Given the description of an element on the screen output the (x, y) to click on. 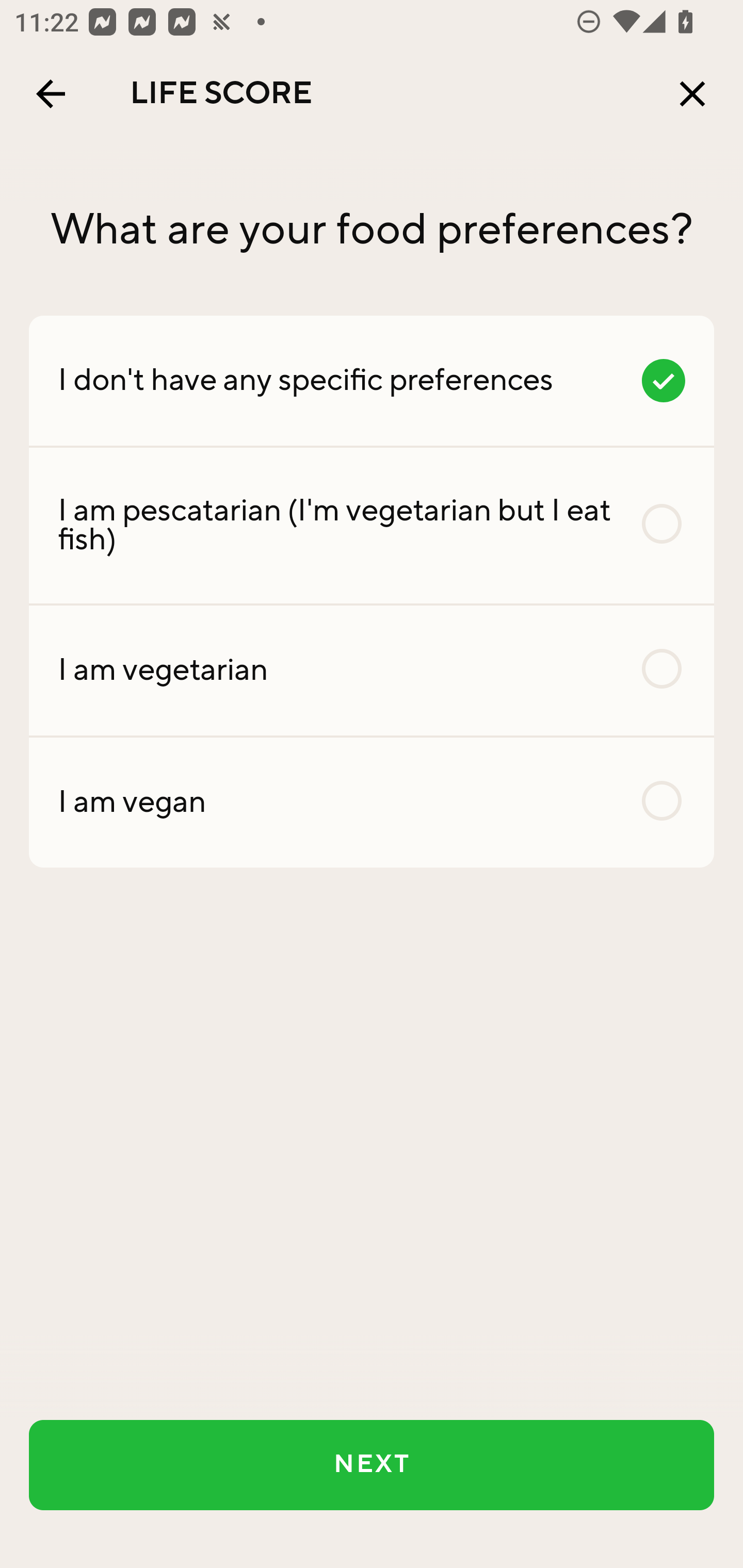
I don't have any specific preferences (371, 380)
I am pescatarian (I'm vegetarian but I eat fish) (371, 525)
I am vegetarian (371, 670)
I am vegan (371, 801)
NEXT (371, 1464)
